Given the description of an element on the screen output the (x, y) to click on. 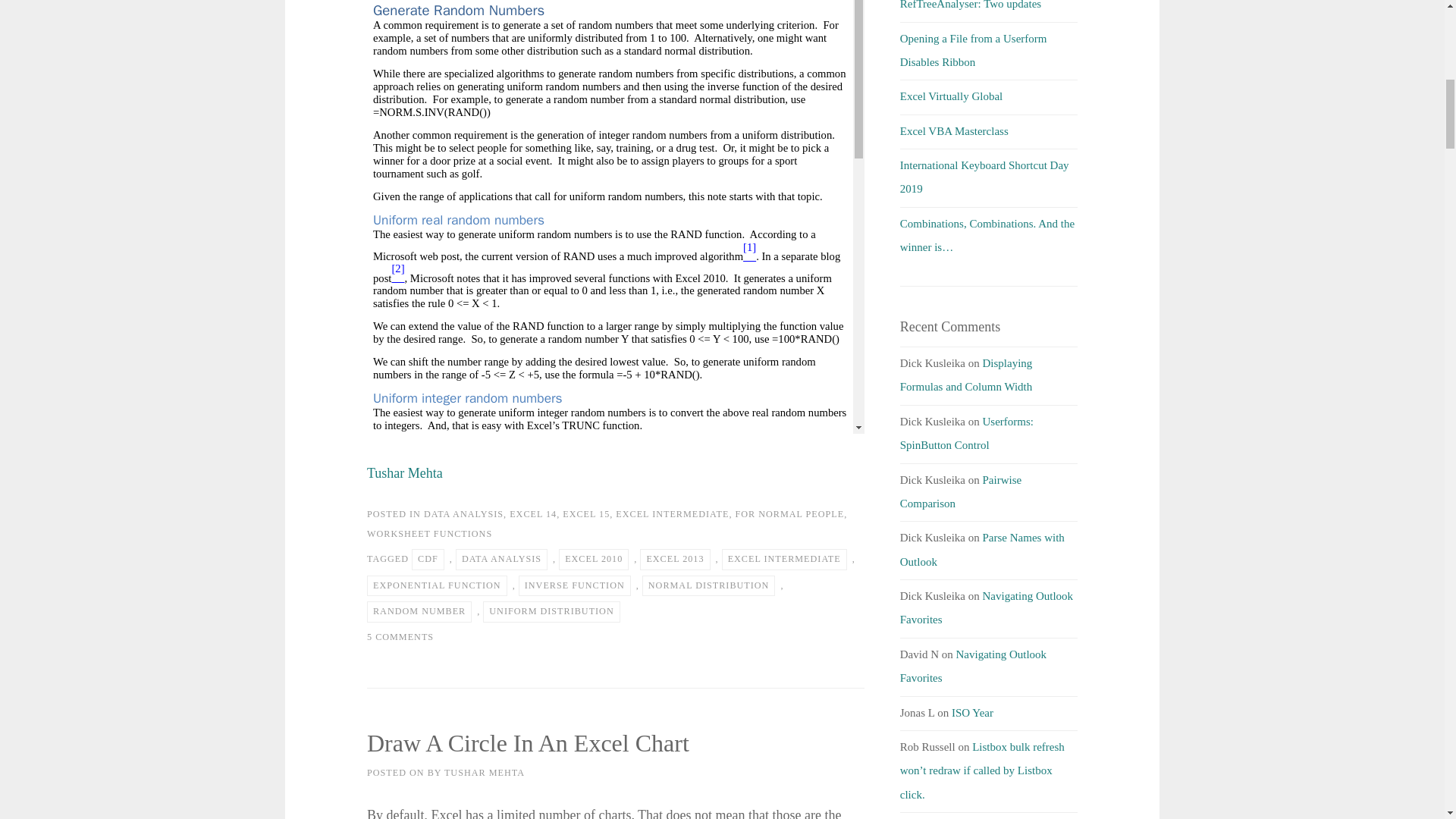
INVERSE FUNCTION (574, 586)
TUSHAR MEHTA (484, 772)
EXCEL 14 (532, 513)
NORMAL DISTRIBUTION (709, 586)
EXCEL 2010 (593, 559)
FOR NORMAL PEOPLE (789, 513)
CDF (428, 559)
Draw A Circle In An Excel Chart (527, 742)
UNIFORM DISTRIBUTION (551, 611)
DATA ANALYSIS (501, 559)
EXPONENTIAL FUNCTION (436, 586)
RANDOM NUMBER (418, 611)
EXCEL 2013 (675, 559)
WORKSHEET FUNCTIONS (429, 533)
Tushar Mehta (404, 473)
